Given the description of an element on the screen output the (x, y) to click on. 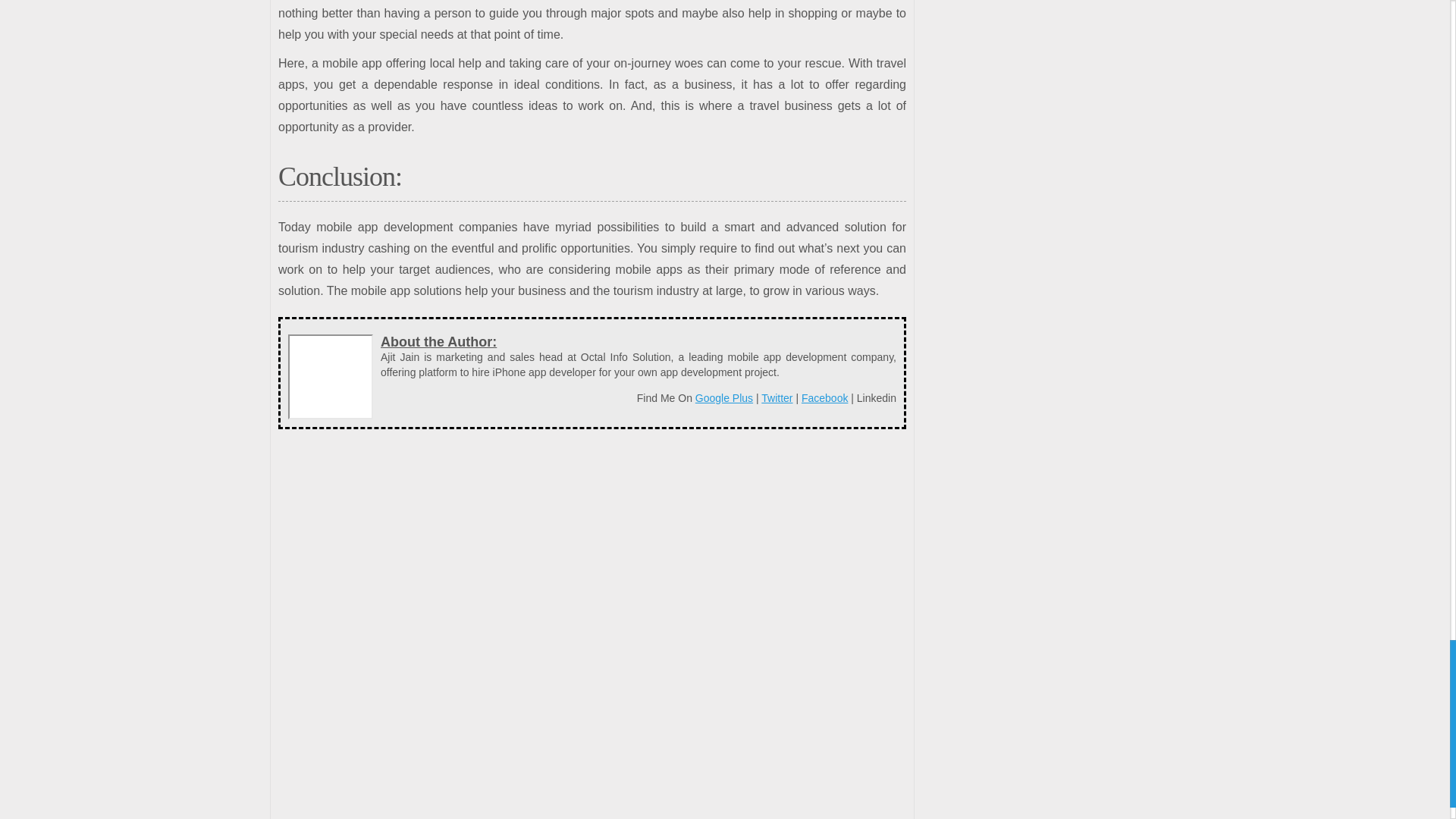
Follow Me On GooglePlus (723, 398)
Follow Me On Facebook (824, 398)
Ajit Jain (330, 376)
Follow Me On Twitter (776, 398)
